Given the description of an element on the screen output the (x, y) to click on. 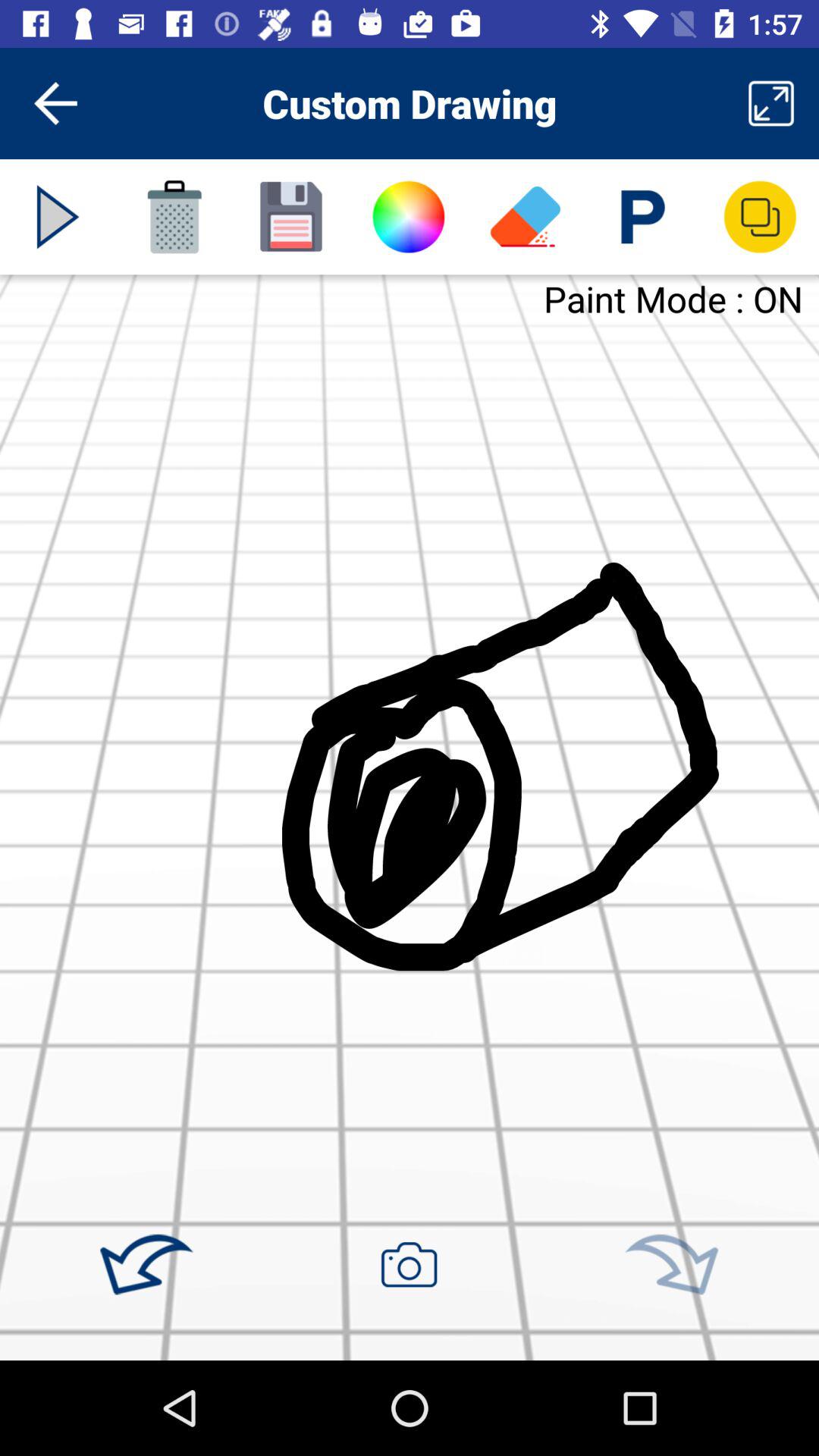
choose item below the custom drawing (408, 216)
